Given the description of an element on the screen output the (x, y) to click on. 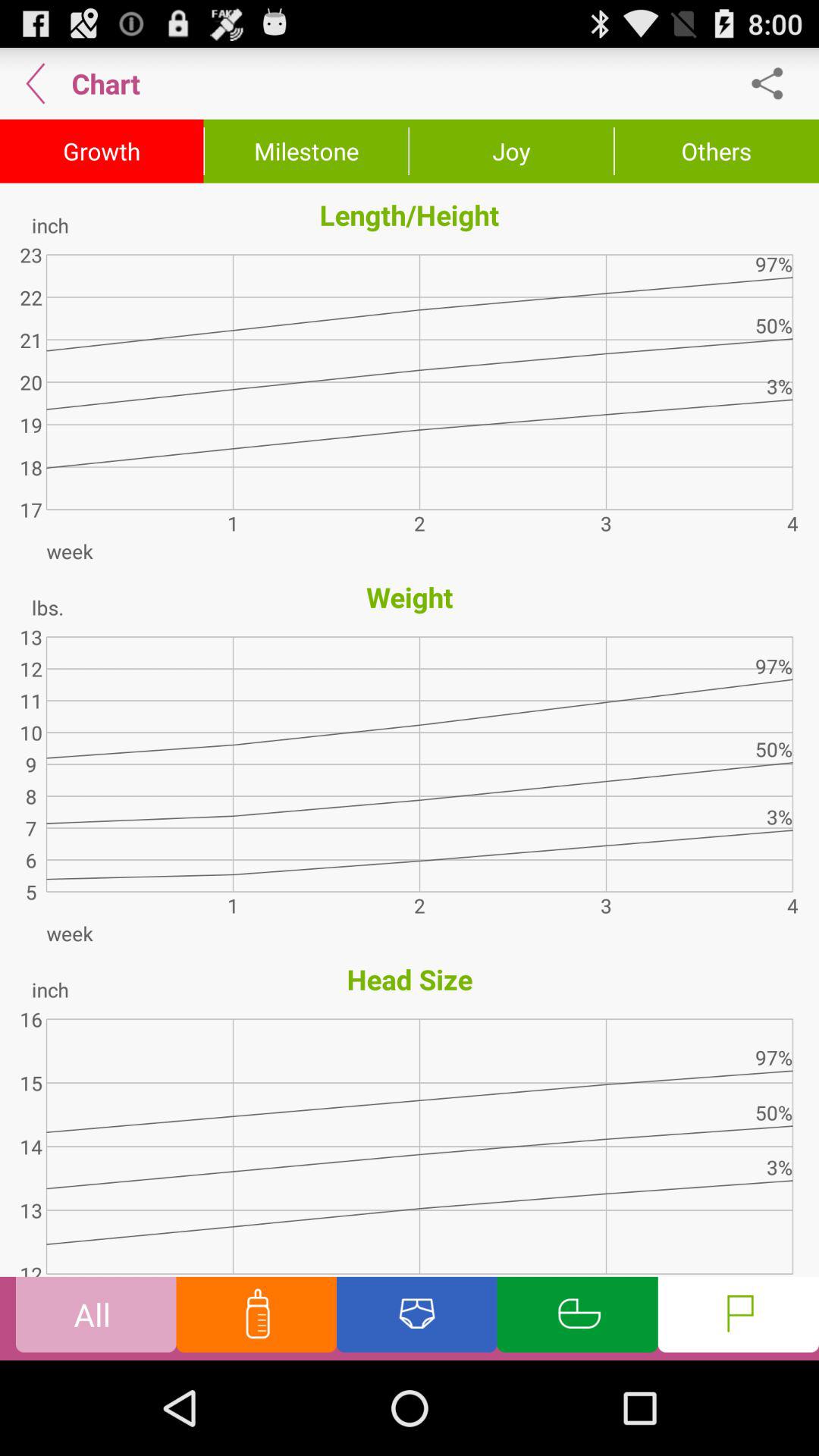
choose all button (95, 1318)
